Given the description of an element on the screen output the (x, y) to click on. 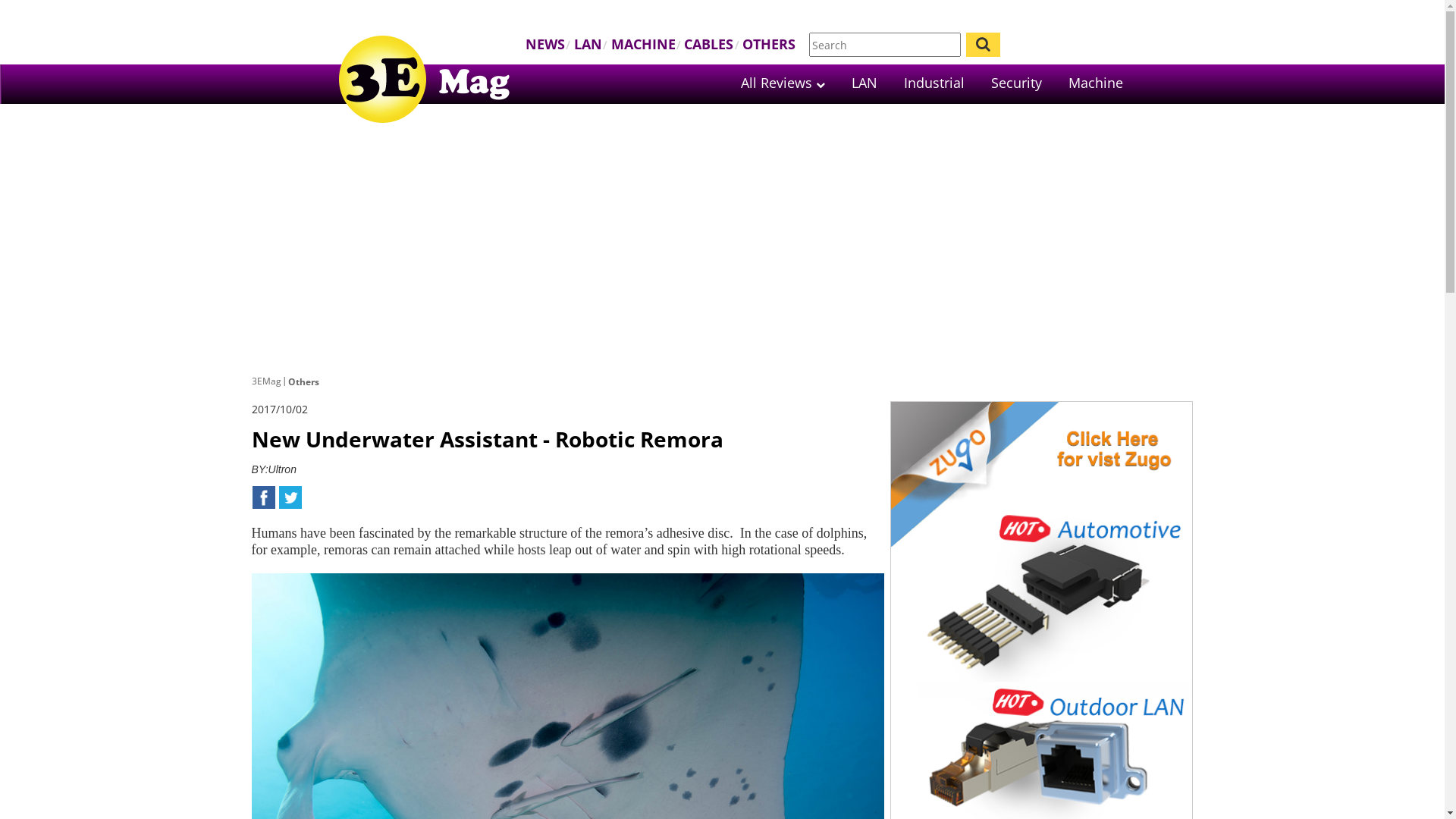
MACHINE Element type: text (643, 43)
LAN Element type: text (864, 82)
Others Element type: text (303, 381)
NEWS Element type: text (544, 43)
Security Element type: text (1016, 82)
Industrial Element type: text (934, 82)
3EMag Element type: text (266, 380)
CABLES Element type: text (708, 43)
All Reviews Element type: text (782, 82)
OTHERS Element type: text (768, 43)
Advertisement Element type: hover (721, 250)
Share this on Facebook Element type: hover (263, 497)
LAN Element type: text (588, 43)
Share this on Twitter Element type: hover (290, 497)
Machine Element type: text (1095, 82)
